Given the description of an element on the screen output the (x, y) to click on. 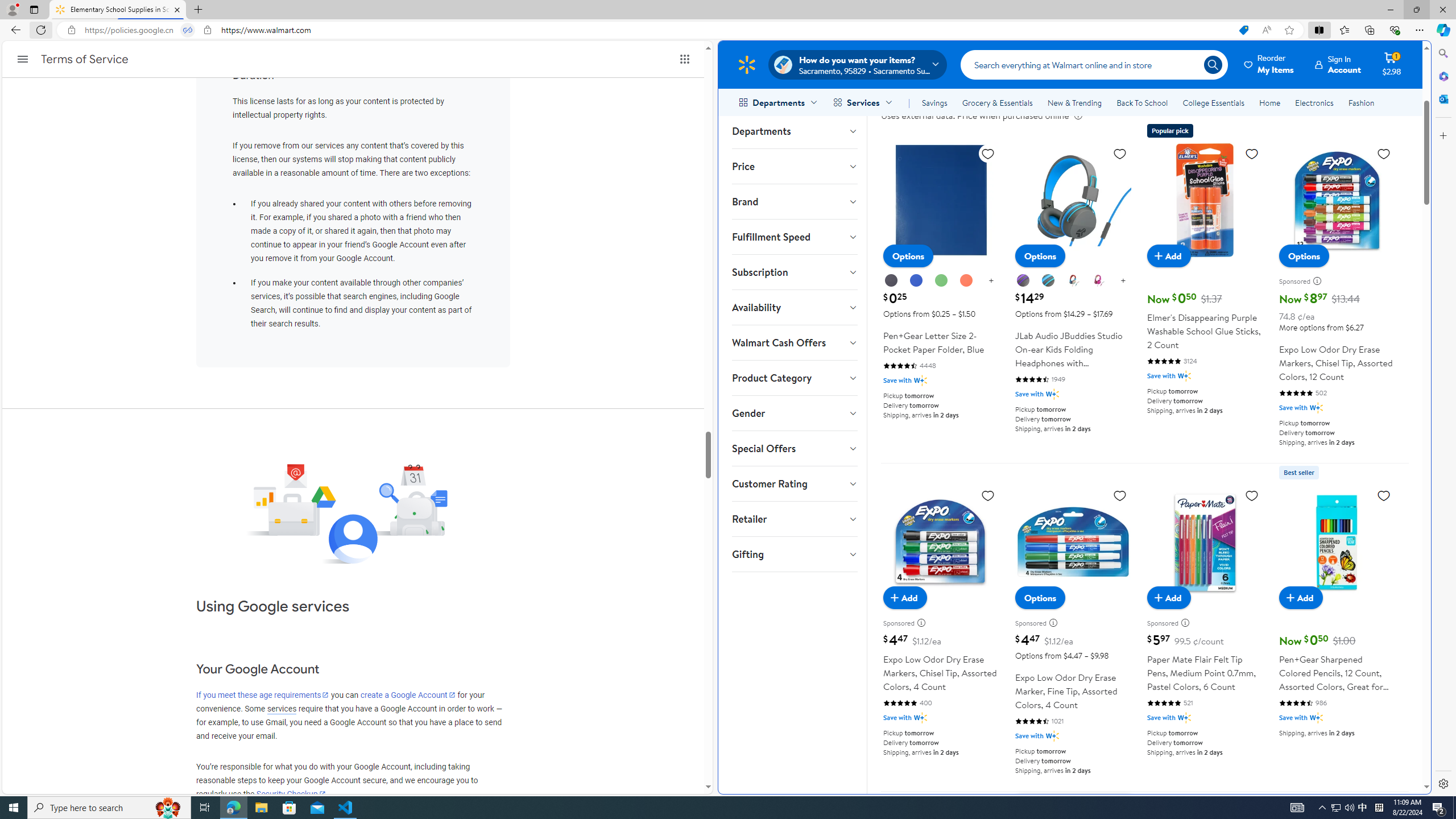
Graphite Purple (1023, 280)
Reorder My Items (1269, 64)
Black (890, 280)
Black (891, 280)
Price (794, 166)
Pen+Gear Letter Size 2-Pocket Paper Folder, Blue (940, 200)
Electronics (1314, 102)
Tabs in split screen (187, 29)
